Given the description of an element on the screen output the (x, y) to click on. 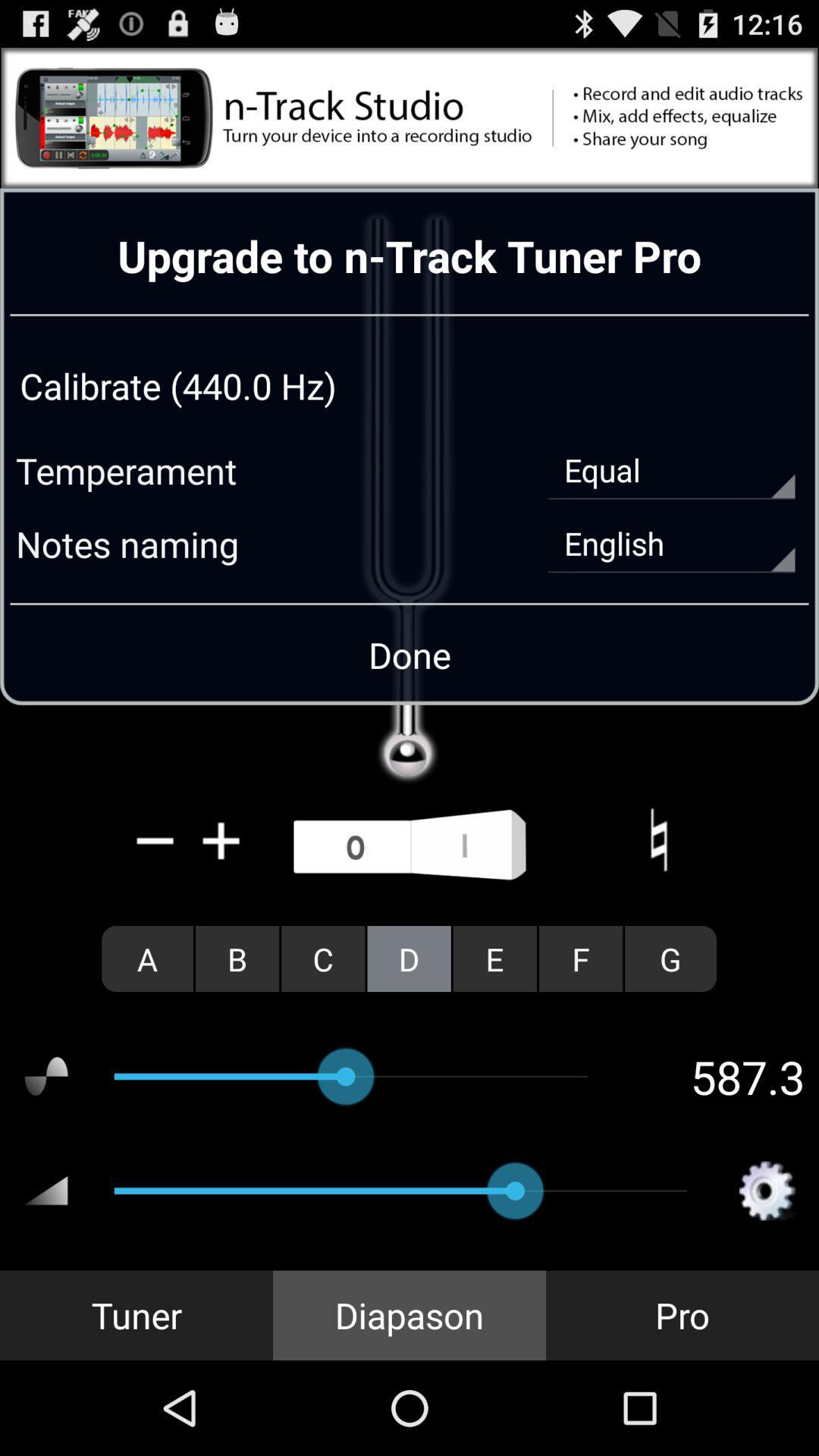
turn off the item above f icon (658, 840)
